Given the description of an element on the screen output the (x, y) to click on. 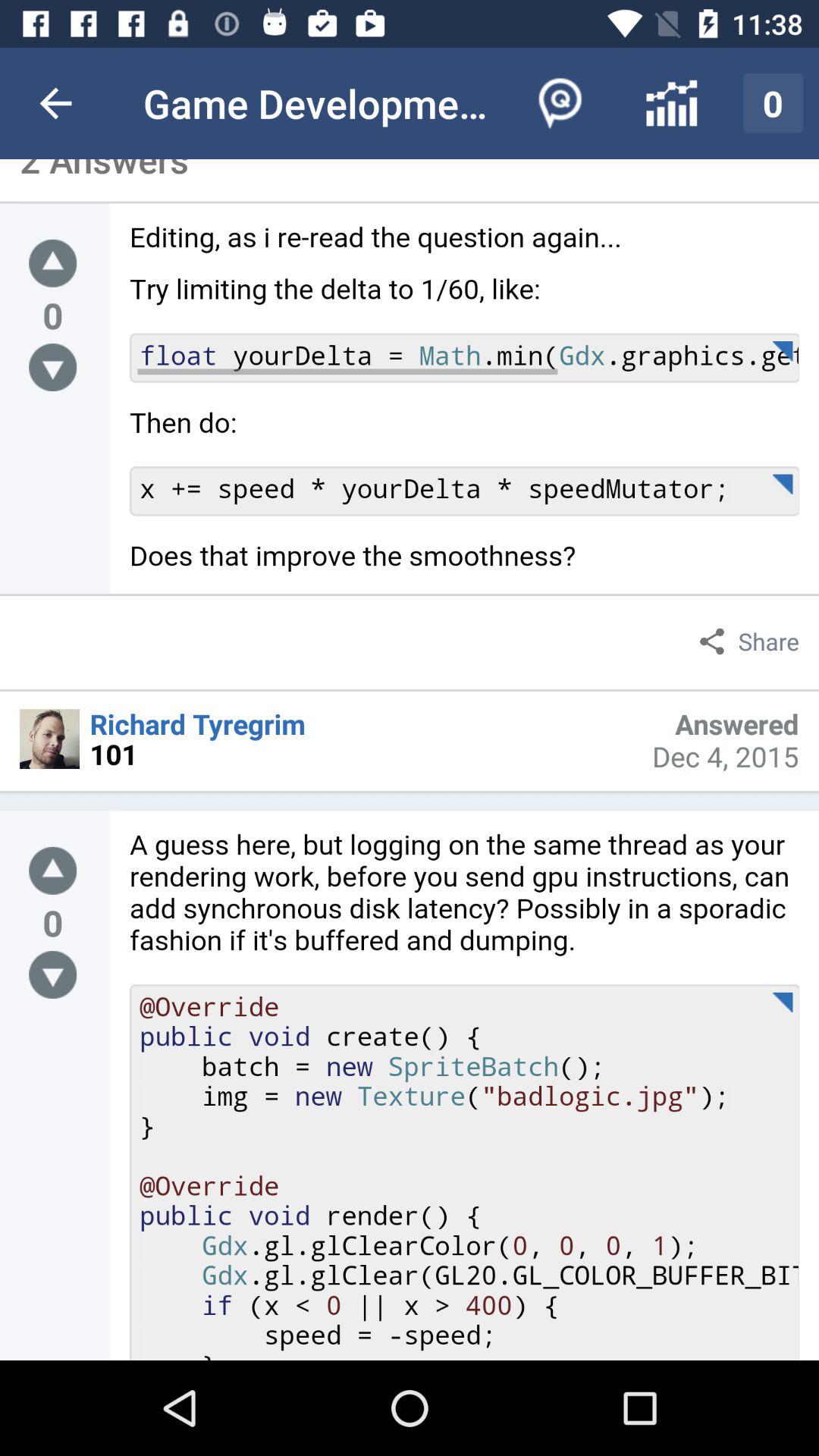
go down option (52, 974)
